Given the description of an element on the screen output the (x, y) to click on. 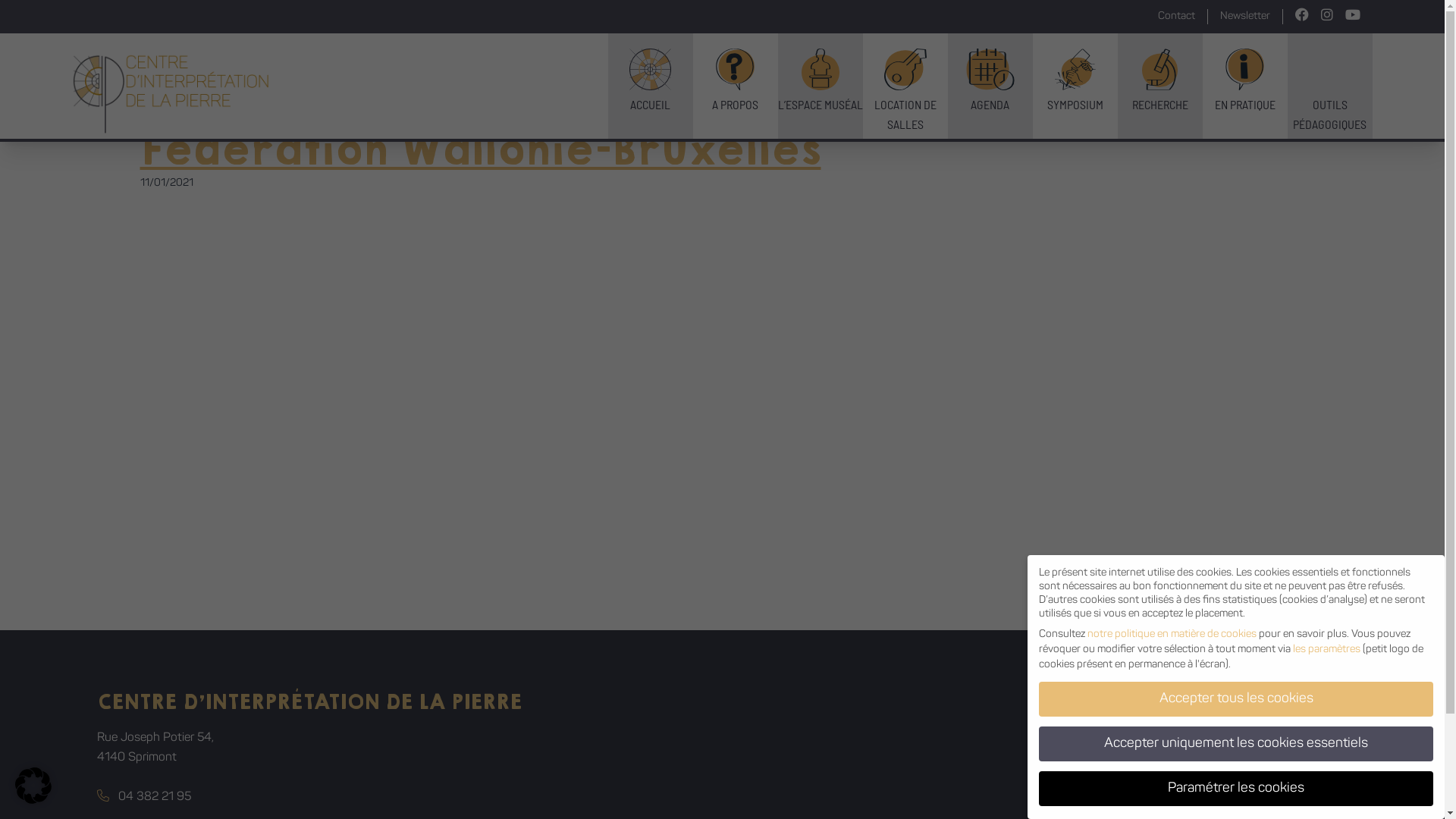
RECHERCHE Element type: text (1159, 85)
Accepter uniquement les cookies essentiels Element type: text (1235, 743)
04 382 21 95 Element type: text (144, 796)
CIP de Sprimont Element type: text (170, 93)
EN PRATIQUE Element type: text (1244, 85)
ACCUEIL Element type: text (650, 85)
LOCATION DE SALLES Element type: text (904, 85)
Open Cookie Preferences Element type: hover (33, 785)
Accepter tous les cookies Element type: text (1235, 698)
AGENDA Element type: text (989, 85)
Contact Element type: text (1176, 16)
A PROPOS Element type: text (735, 85)
Envoyer Element type: text (1332, 786)
SYMPOSIUM Element type: text (1074, 85)
Newsletter Element type: text (1245, 16)
